Given the description of an element on the screen output the (x, y) to click on. 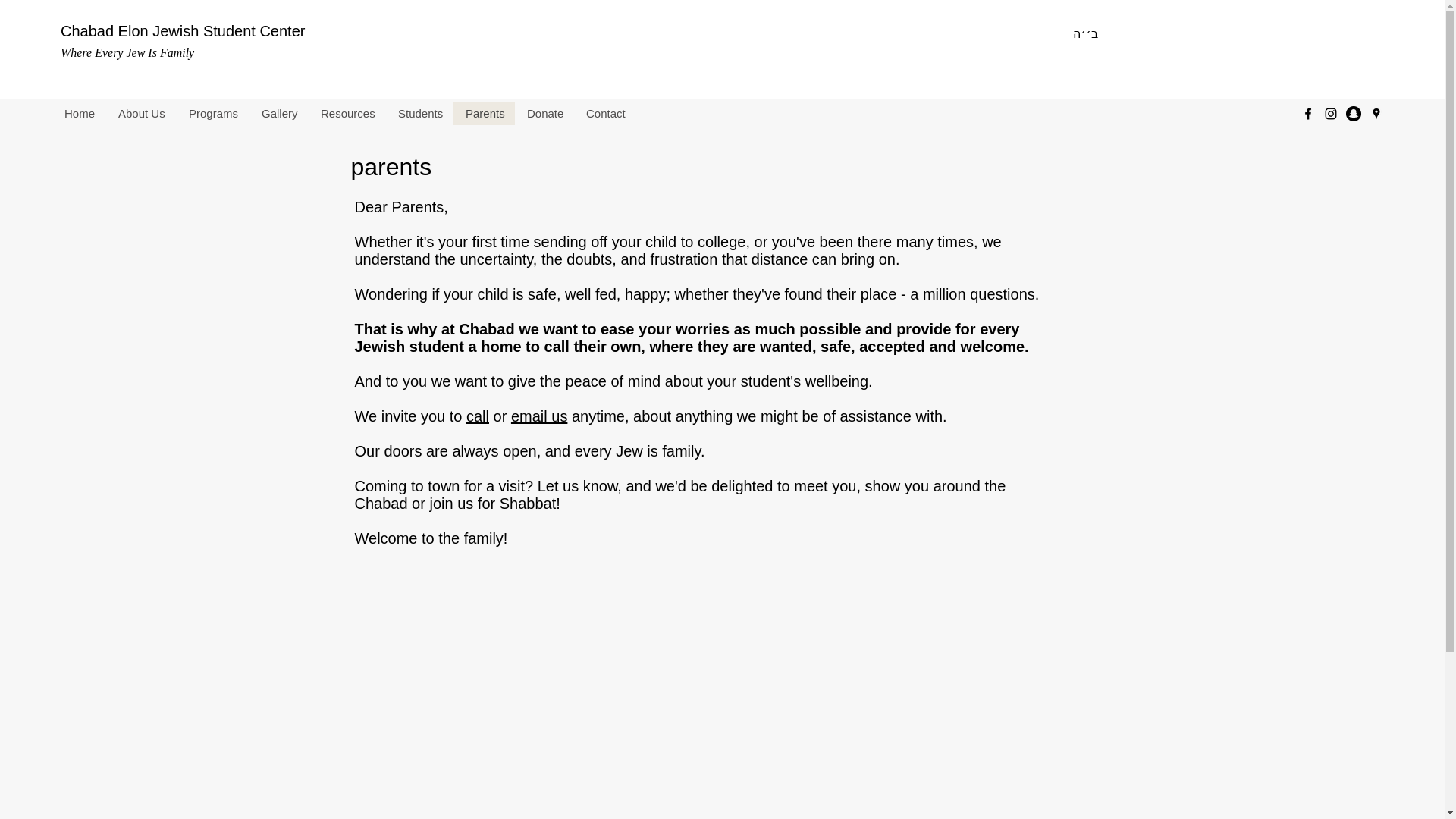
Programs (212, 113)
Home (79, 113)
About Us (141, 113)
Gallery (278, 113)
Chabad Elon Jewish Student Center (182, 30)
Parents (483, 113)
Students (418, 113)
Contact (604, 113)
Resources (346, 113)
Donate (544, 113)
